Given the description of an element on the screen output the (x, y) to click on. 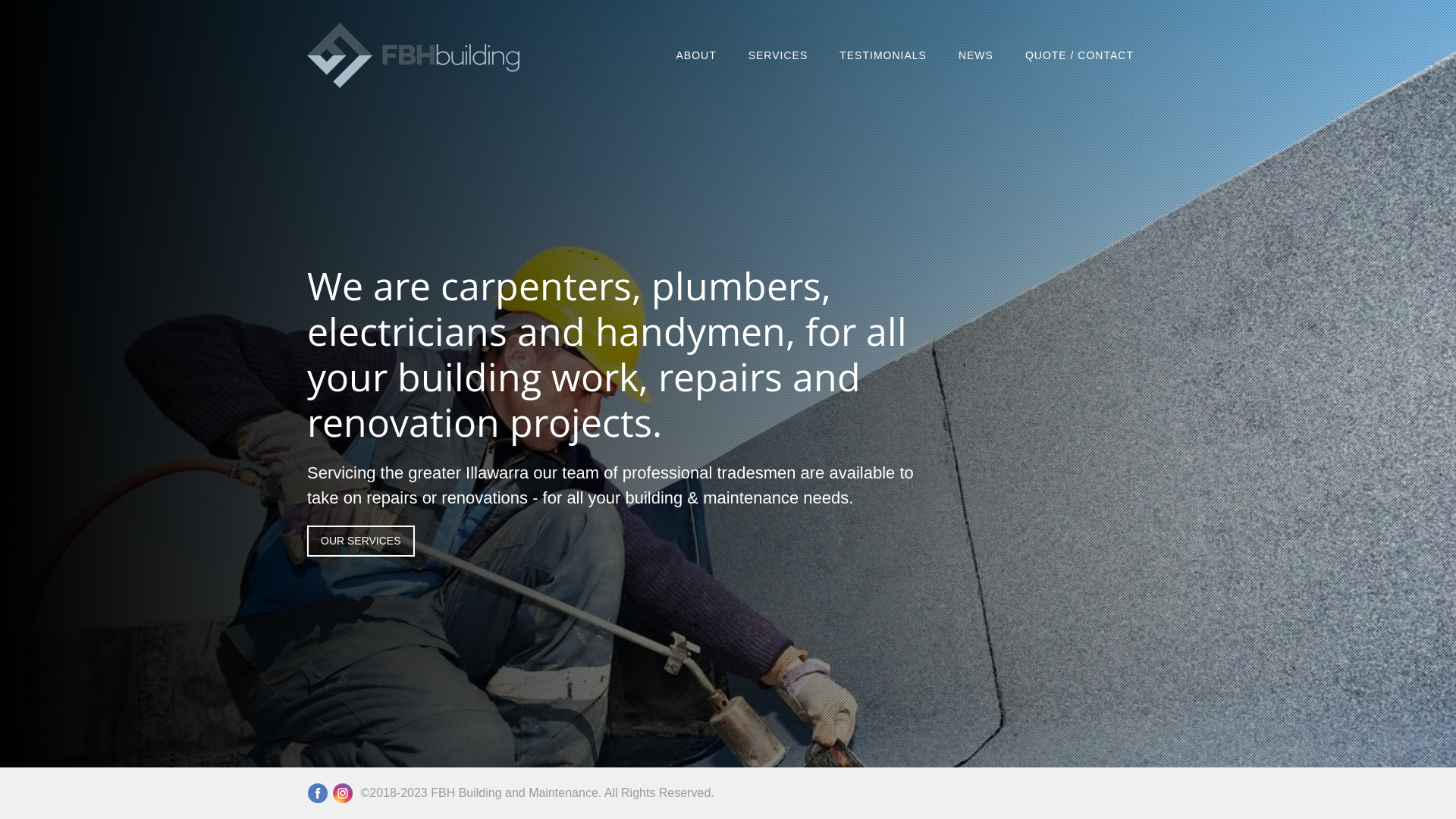
QUOTE / CONTACT Element type: text (1079, 55)
TESTIMONIALS Element type: text (882, 55)
ABOUT Element type: text (695, 55)
NEWS Element type: text (975, 55)
SERVICES Element type: text (778, 55)
OUR SERVICES Element type: text (360, 539)
